Given the description of an element on the screen output the (x, y) to click on. 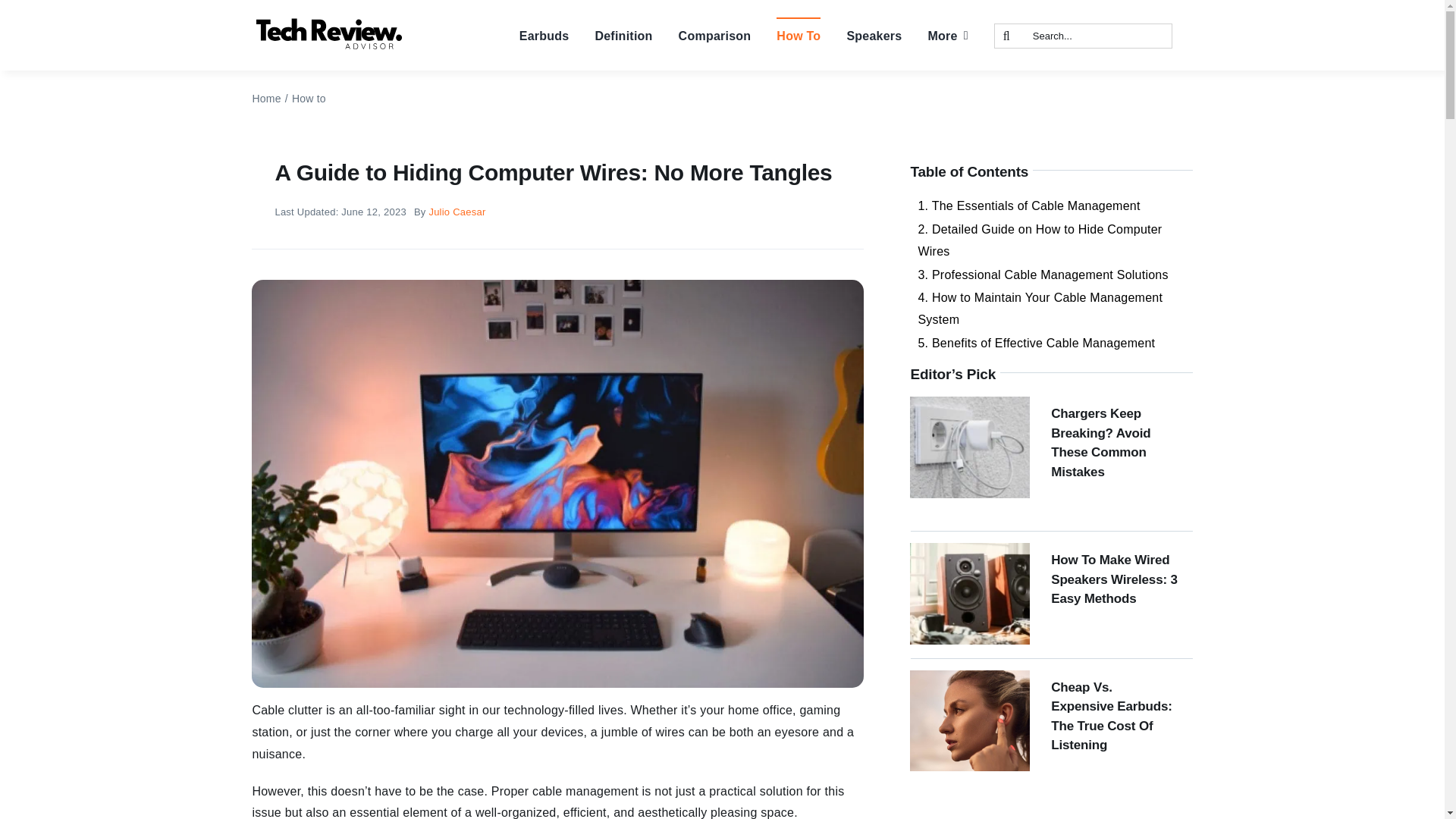
More (947, 35)
Posts by Julio Caesar (456, 211)
Professional Cable Management Solutions (1051, 275)
How To (798, 35)
Definition (623, 35)
Cheap Vs. Expensive Earbuds: The True Cost Of Listening (1111, 716)
Speakers (873, 35)
Benefits of Effective Cable Management (1051, 343)
The Essentials of Cable Management (1051, 206)
How To Make Wired Speakers Wireless: 3 Easy Methods (1114, 579)
